Given the description of an element on the screen output the (x, y) to click on. 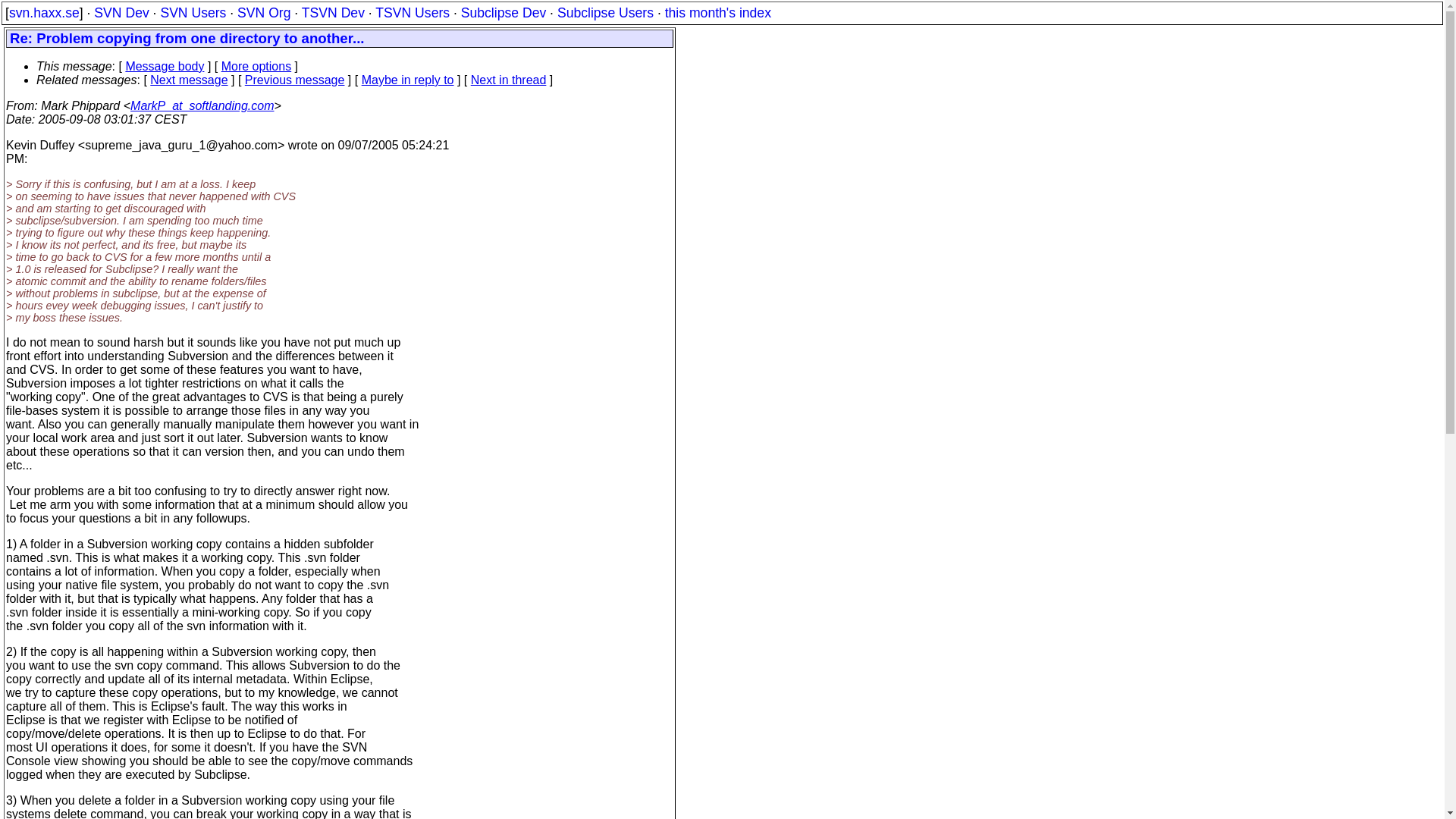
Maybe in reply to (407, 79)
svn.haxx.se (44, 12)
Previous message (294, 79)
SVN Org (263, 12)
TSVN Users (412, 12)
SVN Users (192, 12)
More options (256, 65)
Next in thread (508, 79)
TSVN Dev (333, 12)
Subclipse Dev (503, 12)
Next message (188, 79)
Subclipse Users (605, 12)
